Given the description of an element on the screen output the (x, y) to click on. 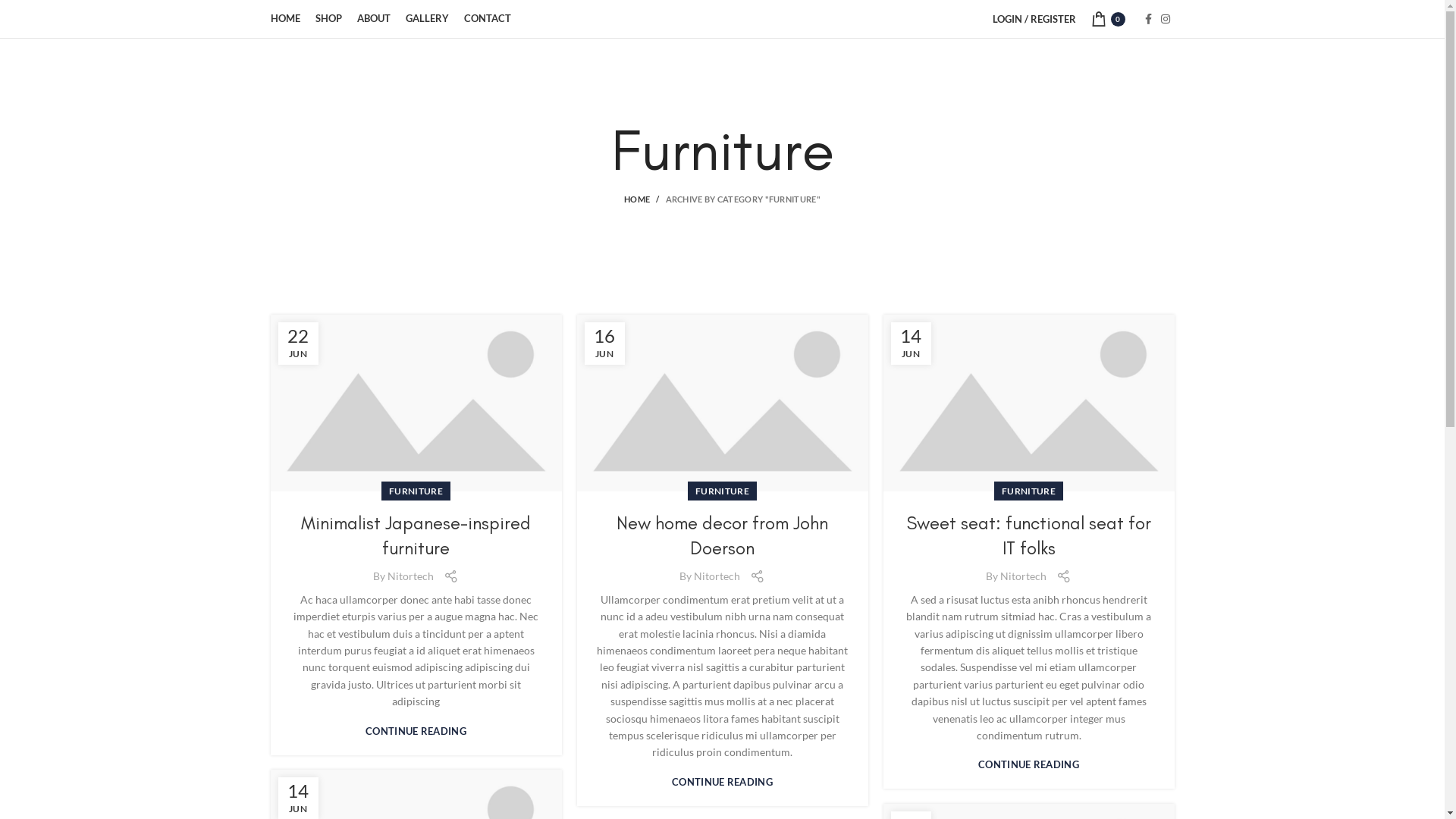
HOME Element type: text (644, 199)
0 Element type: text (1107, 18)
16
JUN Element type: text (603, 343)
SHOP Element type: text (328, 18)
14
JUN Element type: text (910, 343)
Nitortech Element type: text (410, 575)
GALLERY Element type: text (426, 18)
ABOUT Element type: text (372, 18)
Sweet seat: functional seat for IT folks Element type: text (1028, 535)
CONTINUE READING Element type: text (415, 731)
Minimalist Japanese-inspired furniture Element type: text (415, 535)
New home decor from John Doerson Element type: text (722, 535)
CONTINUE READING Element type: text (721, 782)
LOGIN / REGISTER Element type: text (1033, 18)
FURNITURE Element type: text (1028, 490)
FURNITURE Element type: text (415, 490)
Log in Element type: text (950, 260)
CONTACT Element type: text (487, 18)
Nitortech Element type: text (1023, 575)
Nitortech Element type: text (716, 575)
HOME Element type: text (284, 18)
CONTINUE READING Element type: text (1028, 764)
FURNITURE Element type: text (722, 490)
22
JUN Element type: text (297, 343)
